Given the description of an element on the screen output the (x, y) to click on. 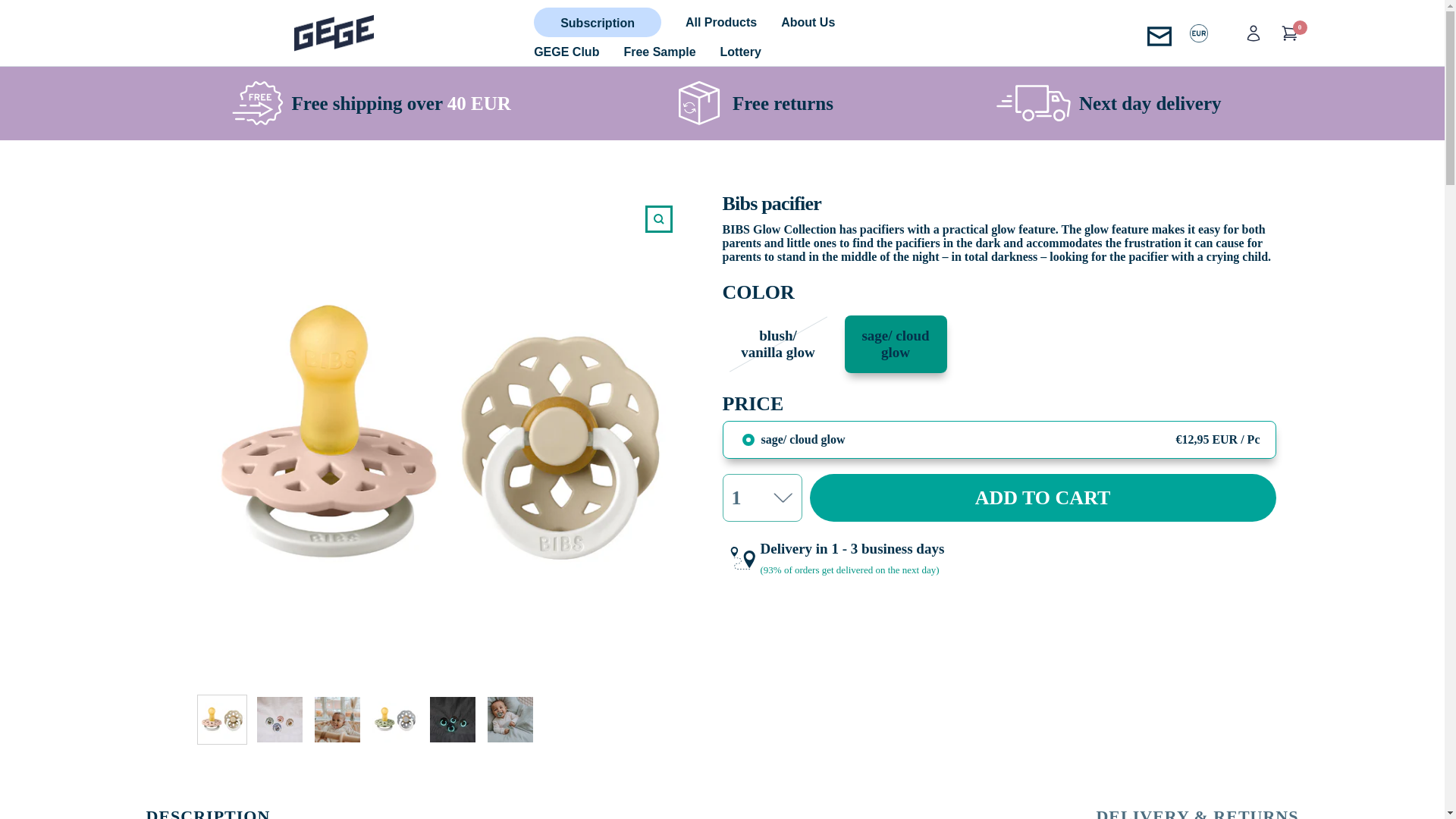
ADD TO CART (1042, 497)
All Products (721, 22)
DESCRIPTION (207, 812)
GEGE Club (566, 51)
Subscription (597, 23)
Free Sample (659, 51)
Zoom (658, 218)
About Us (807, 22)
Lottery (740, 51)
0 (1289, 33)
Newsletter (1159, 33)
